Given the description of an element on the screen output the (x, y) to click on. 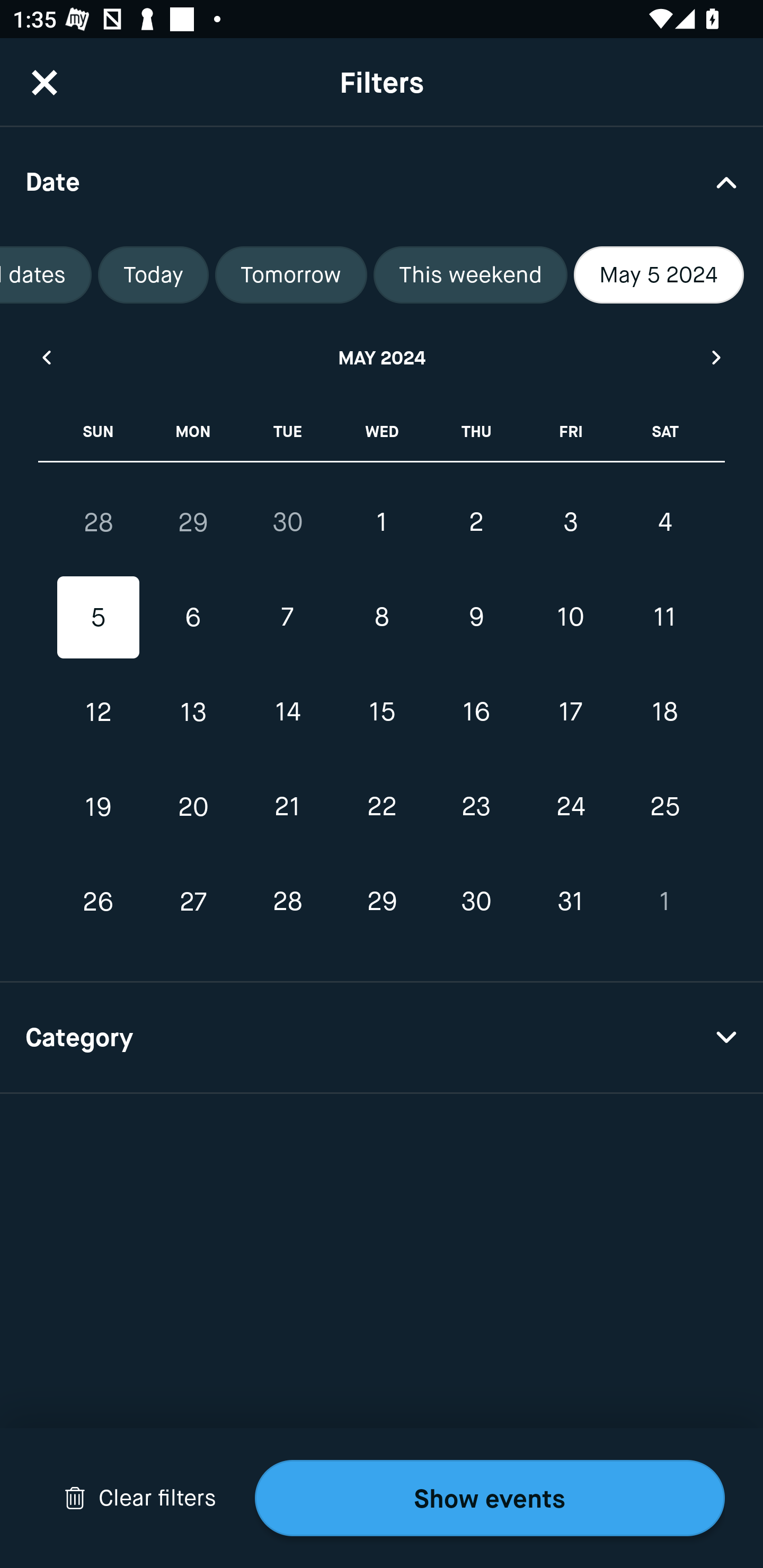
CloseButton (44, 82)
Date Drop Down Arrow (381, 181)
All dates (45, 274)
Today (153, 274)
Tomorrow (291, 274)
This weekend (470, 274)
May 5 2024 (658, 274)
Previous (45, 357)
Next (717, 357)
28 (98, 522)
29 (192, 522)
30 (287, 522)
1 (381, 522)
2 (475, 522)
3 (570, 522)
4 (664, 522)
5 (98, 617)
6 (192, 617)
7 (287, 617)
8 (381, 617)
9 (475, 617)
10 (570, 617)
11 (664, 617)
12 (98, 711)
13 (192, 711)
14 (287, 711)
15 (381, 711)
16 (475, 711)
17 (570, 711)
18 (664, 711)
19 (98, 806)
20 (192, 806)
21 (287, 806)
22 (381, 806)
23 (475, 806)
24 (570, 806)
25 (664, 806)
26 (98, 901)
27 (192, 901)
28 (287, 901)
29 (381, 901)
30 (475, 901)
31 (570, 901)
1 (664, 901)
Category Drop Down Arrow (381, 1038)
Drop Down Arrow Clear filters (139, 1497)
Show events (489, 1497)
